Given the description of an element on the screen output the (x, y) to click on. 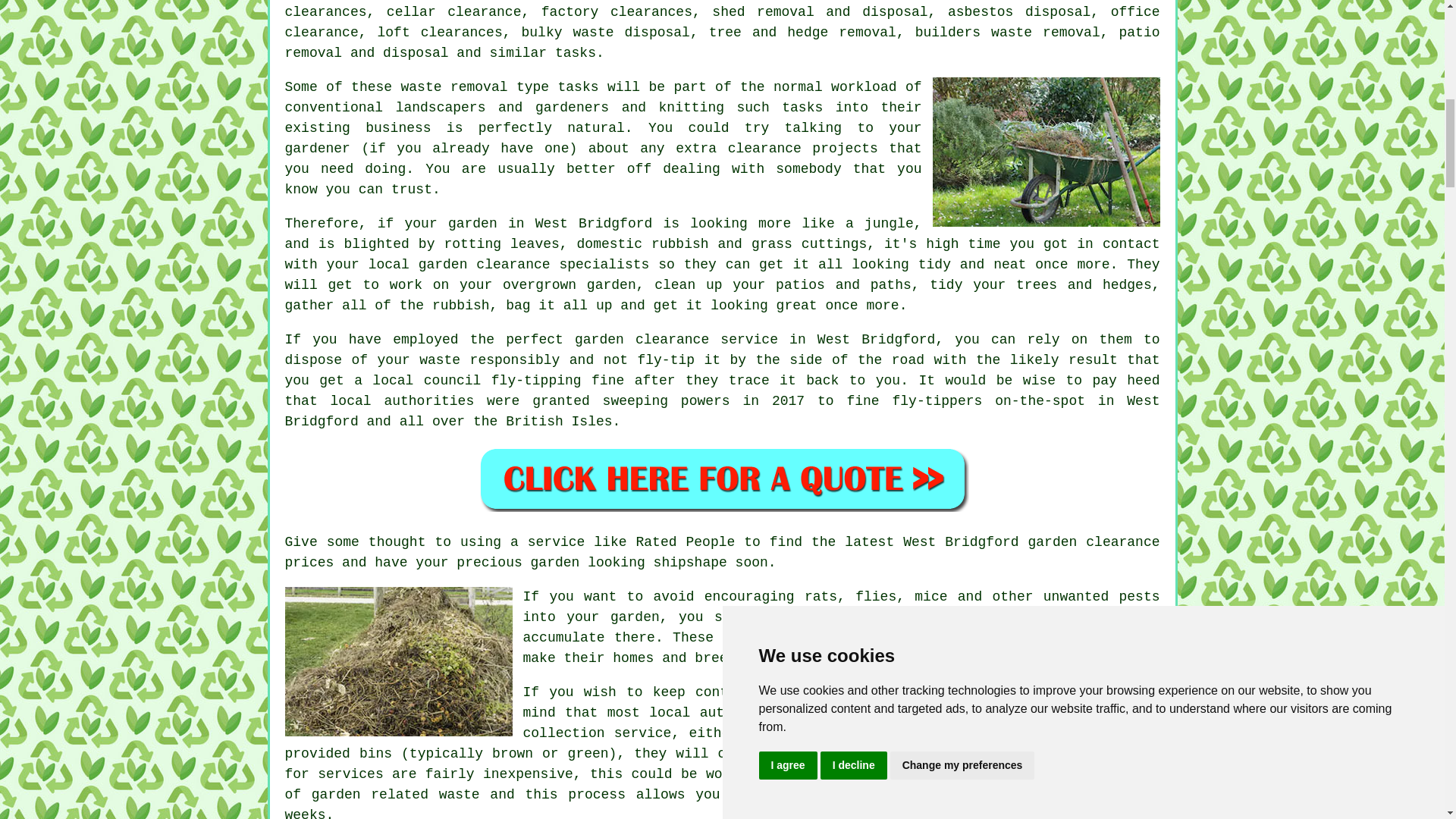
Garden Clearances Near West Bridgford Nottinghamshire (398, 661)
Garden Clearance Quotes in West Bridgford Nottinghamshire (722, 478)
gardener (317, 148)
garden clearance service (676, 339)
garden clearance prices (722, 552)
clearance (765, 148)
